Given the description of an element on the screen output the (x, y) to click on. 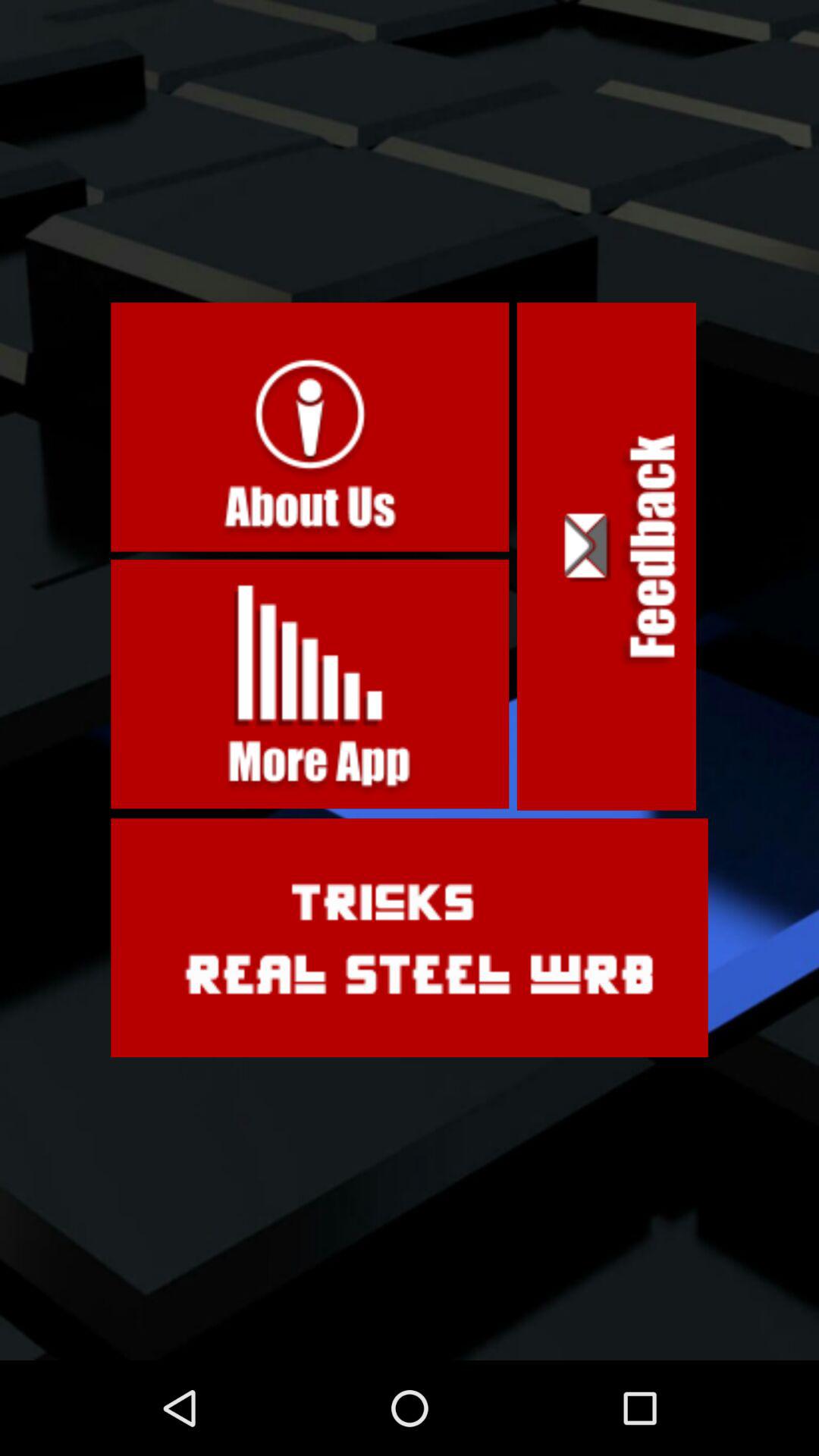
open the icon on the right (606, 556)
